Given the description of an element on the screen output the (x, y) to click on. 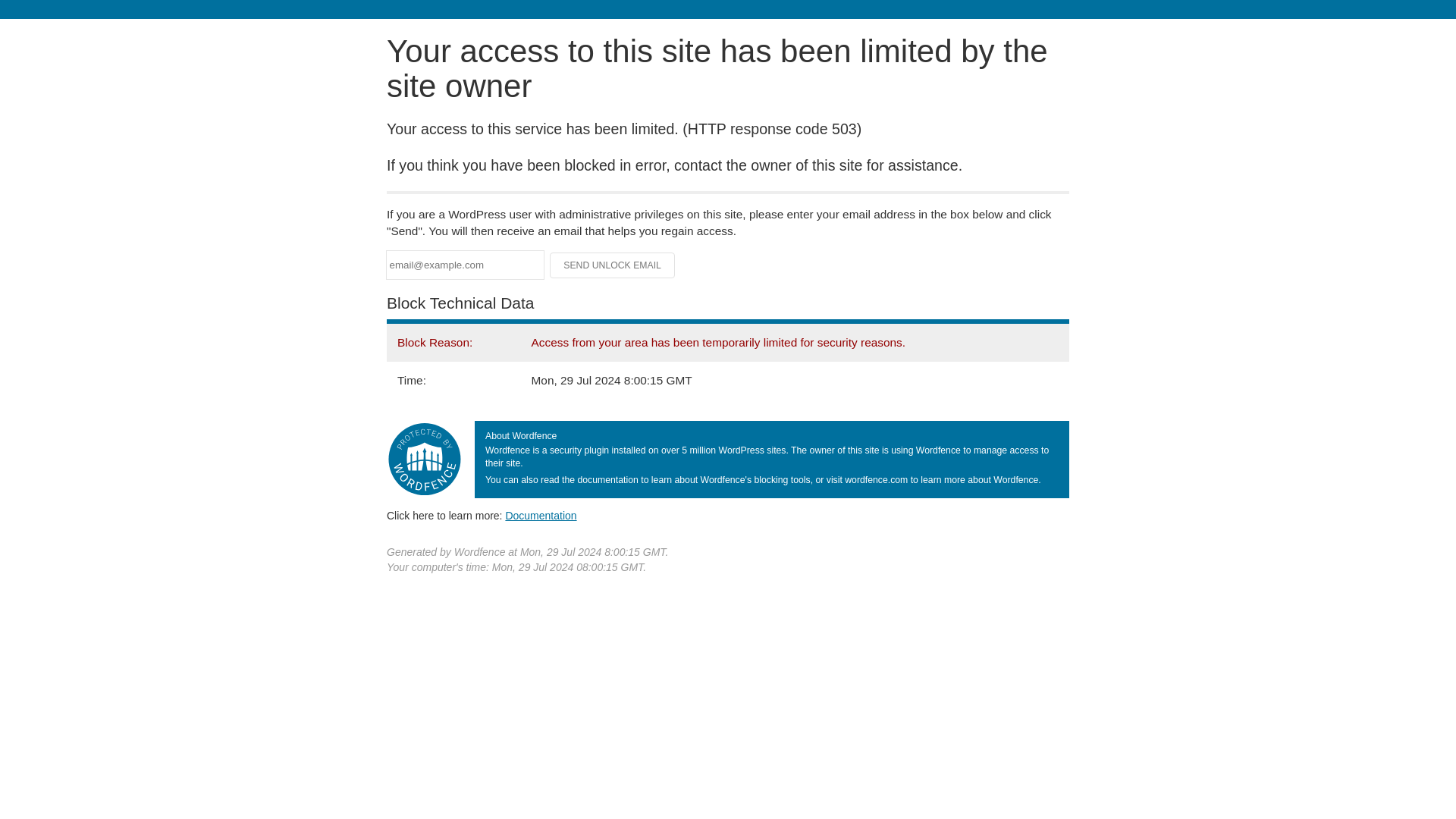
Send Unlock Email (612, 265)
Send Unlock Email (612, 265)
Documentation (540, 515)
